Given the description of an element on the screen output the (x, y) to click on. 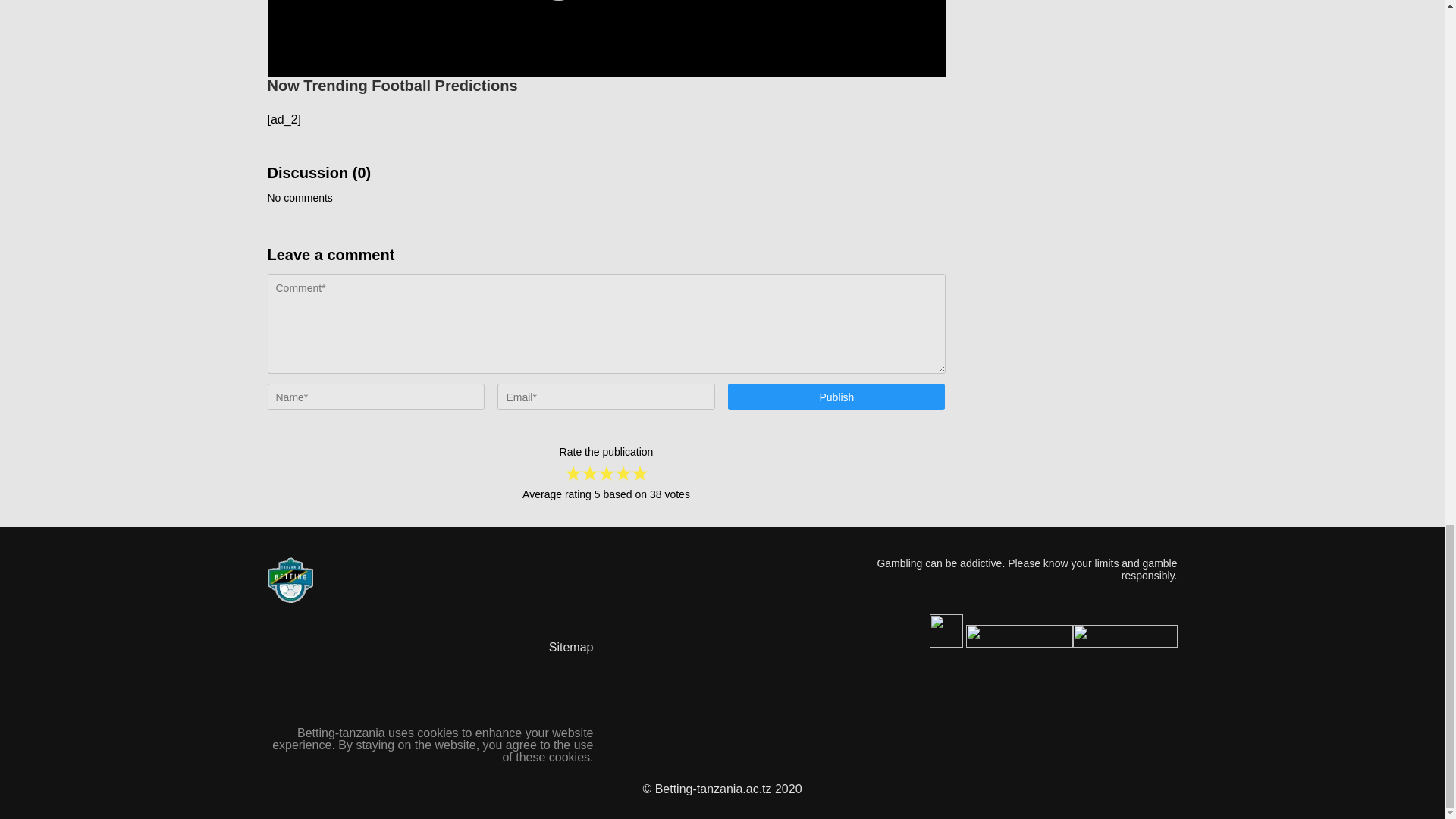
Publish (836, 397)
